Given the description of an element on the screen output the (x, y) to click on. 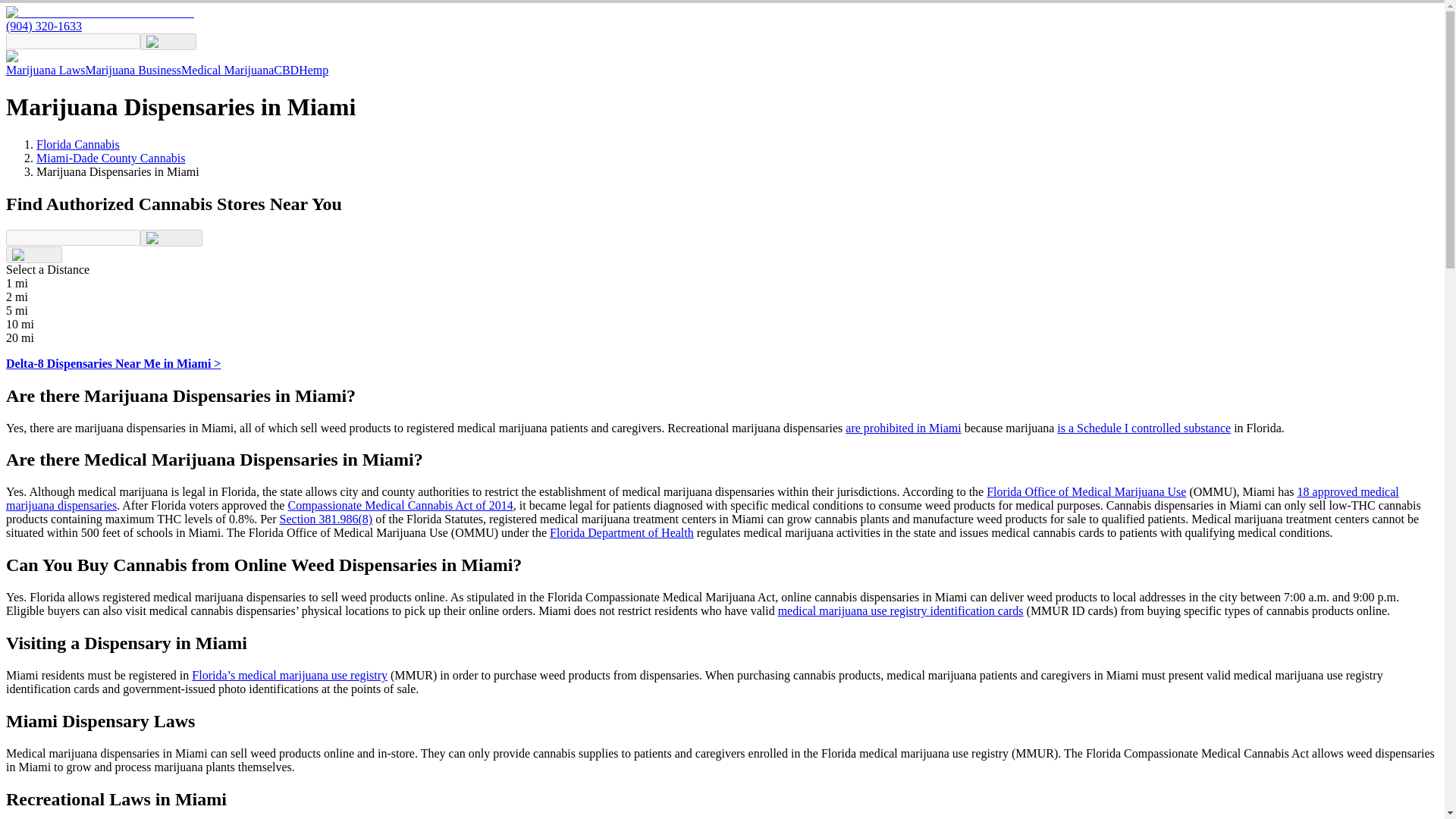
CBD (285, 69)
are prohibited in Miami (902, 427)
Marijuana Business (132, 69)
Florida Cannabis (77, 144)
Florida Office of Medical Marijuana Use (1086, 491)
medical marijuana use registry identification cards (900, 610)
Compassionate Medical Cannabis Act of 2014 (399, 504)
Medical Marijuana (226, 69)
Hemp (313, 69)
Miami-Dade County Cannabis (110, 157)
